Given the description of an element on the screen output the (x, y) to click on. 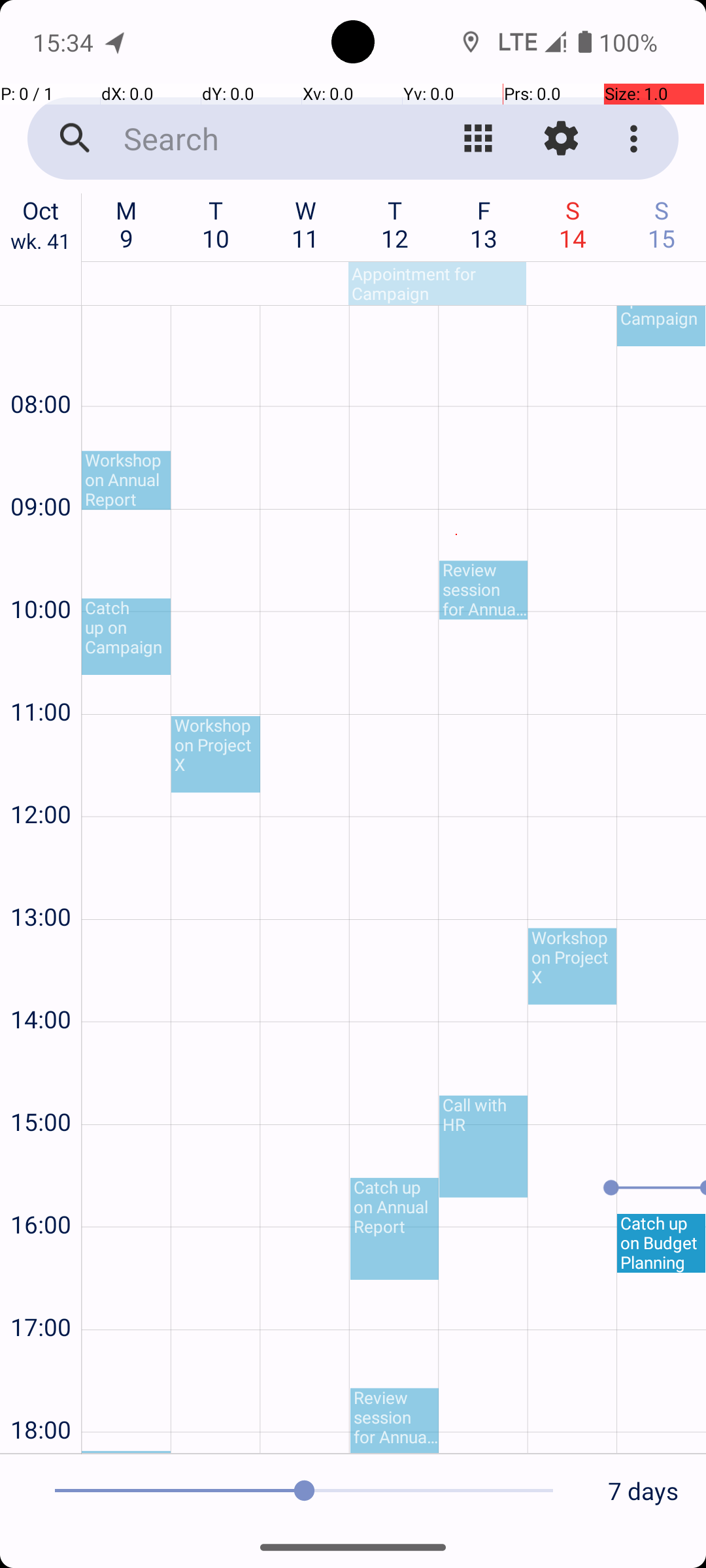
wk. 41 Element type: android.widget.TextView (40, 243)
M
9 Element type: android.widget.TextView (126, 223)
T
10 Element type: android.widget.TextView (215, 223)
W
11 Element type: android.widget.TextView (305, 223)
T
12 Element type: android.widget.TextView (394, 223)
F
13 Element type: android.widget.TextView (483, 223)
S
14 Element type: android.widget.TextView (572, 223)
Catch up on Campaign Element type: android.widget.TextView (125, 636)
Appointment for Project X Element type: android.widget.TextView (125, 1452)
Workshop on Project X Element type: android.widget.TextView (215, 754)
Call with HR Element type: android.widget.TextView (483, 1146)
Catch up on Budget Planning Element type: android.widget.TextView (661, 1242)
